Given the description of an element on the screen output the (x, y) to click on. 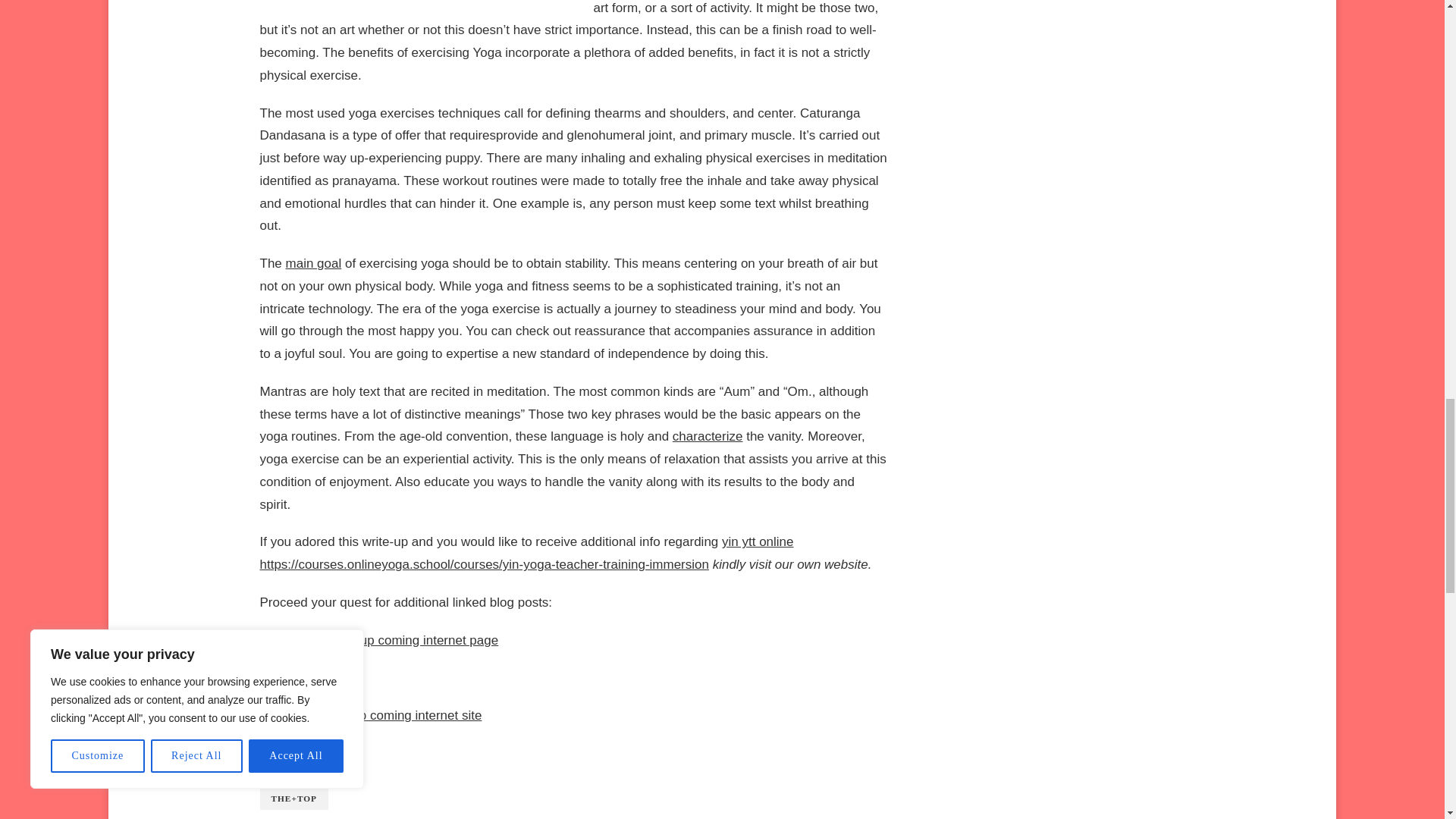
the full details (298, 753)
characterize (707, 436)
main goal (313, 263)
Ongoing (283, 677)
mouse click the up coming internet site (370, 715)
Click through the up coming internet page (378, 640)
